Given the description of an element on the screen output the (x, y) to click on. 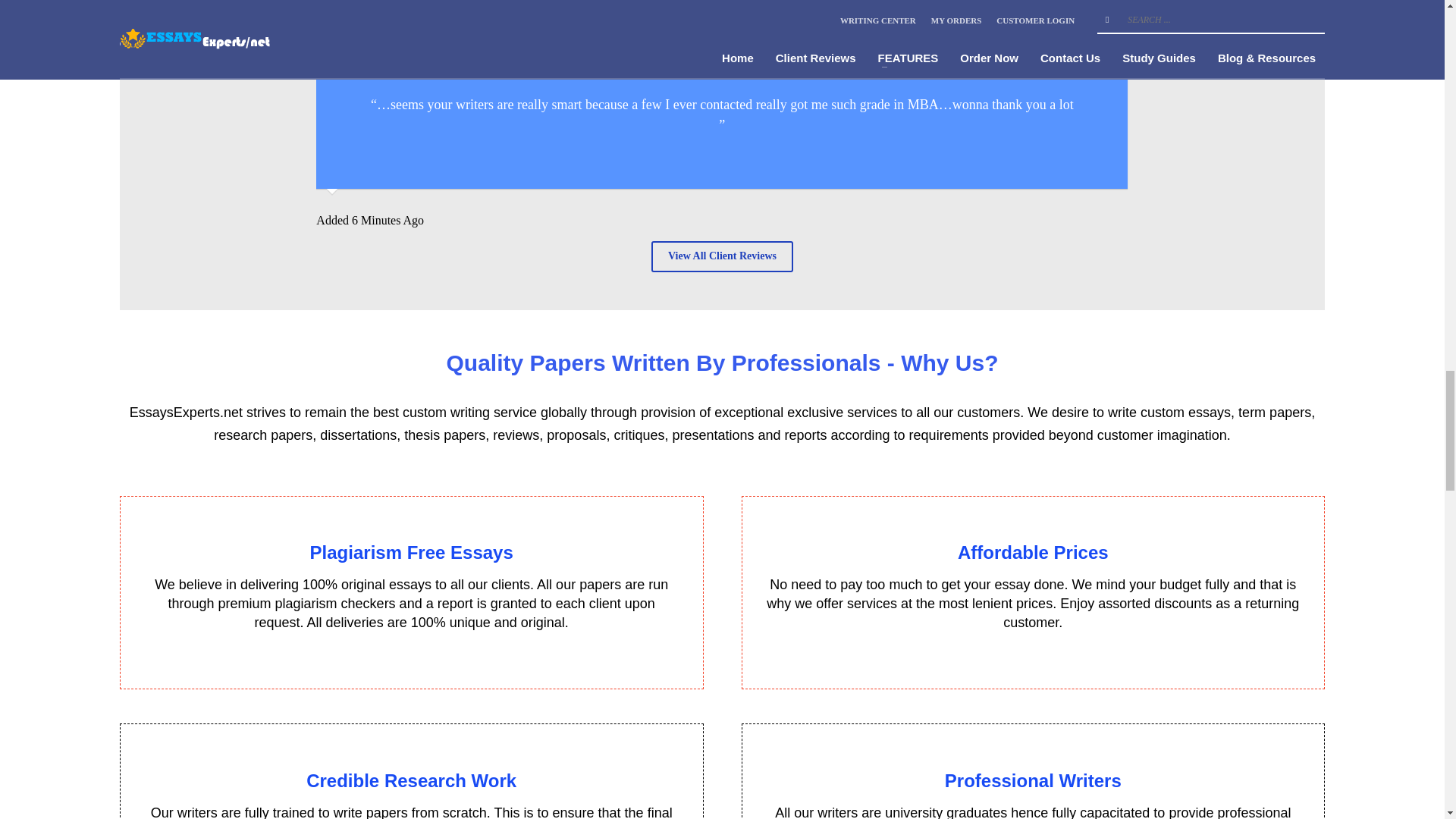
View All Client Reviews (721, 255)
